Given the description of an element on the screen output the (x, y) to click on. 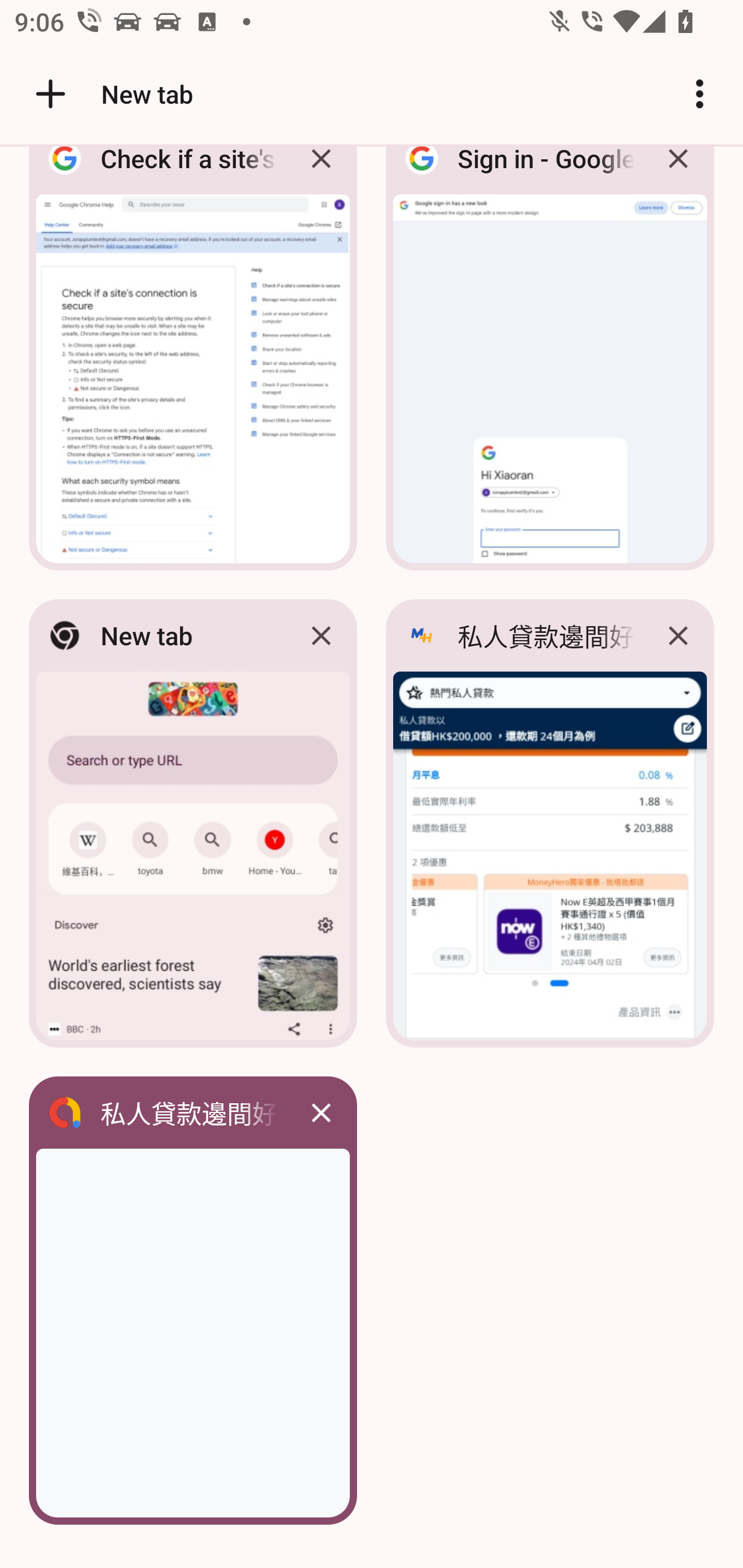
Open the home page (43, 93)
New tab (111, 93)
Customize and control Google Chrome (699, 93)
Customize and control Google Chrome (699, 93)
Customize and control Google Chrome (699, 93)
Close Sign in - Google Accounts tab (677, 173)
New tab New tab, tab Close New tab tab (192, 822)
Close New tab tab (320, 635)
Close 私人貸款邊間好？熱門稅貸、結餘轉戶及低息貸款等產品比較2024 tab (677, 635)
Close  tab (320, 1112)
